Given the description of an element on the screen output the (x, y) to click on. 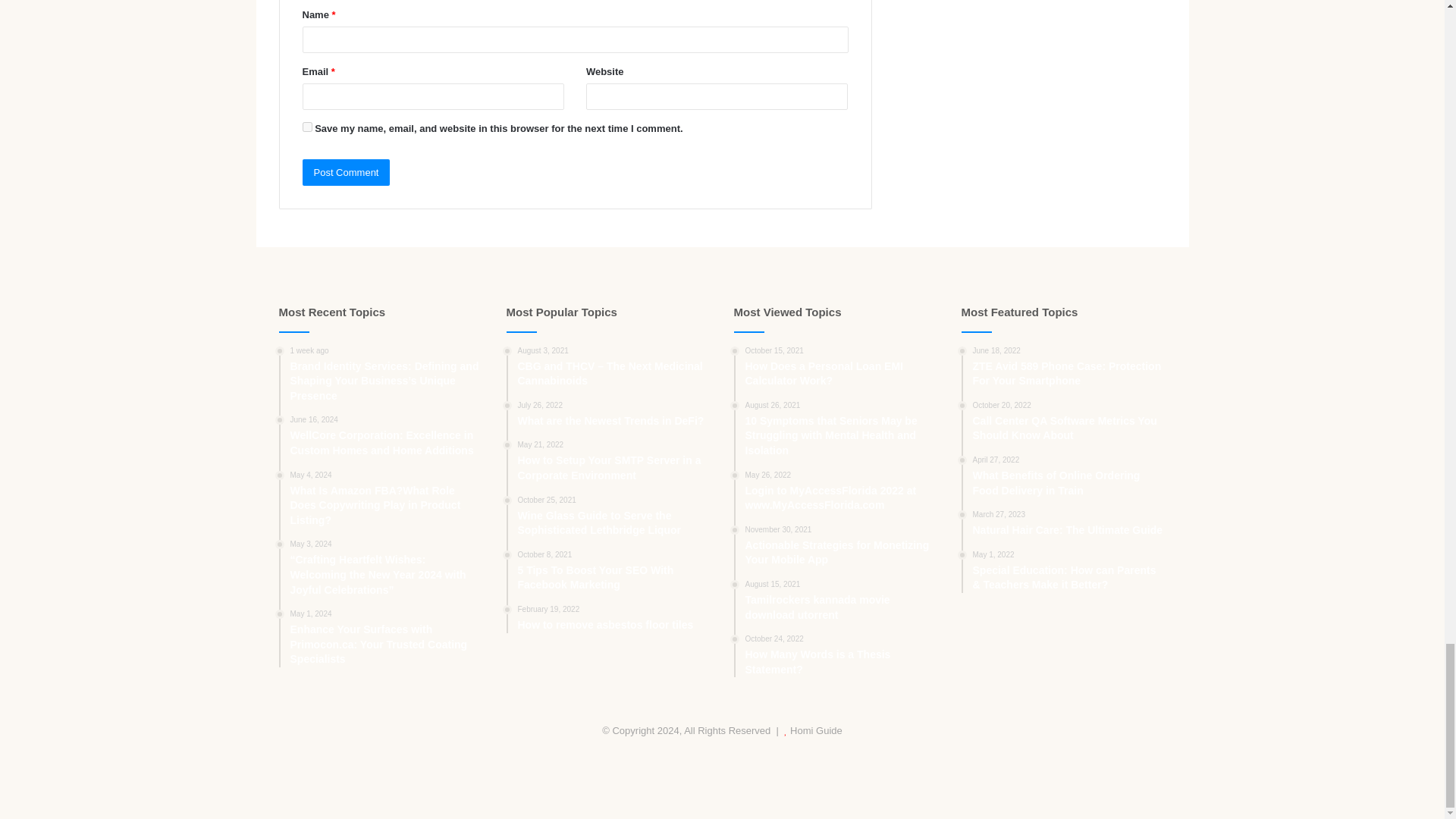
yes (306, 126)
Post Comment (345, 171)
